Given the description of an element on the screen output the (x, y) to click on. 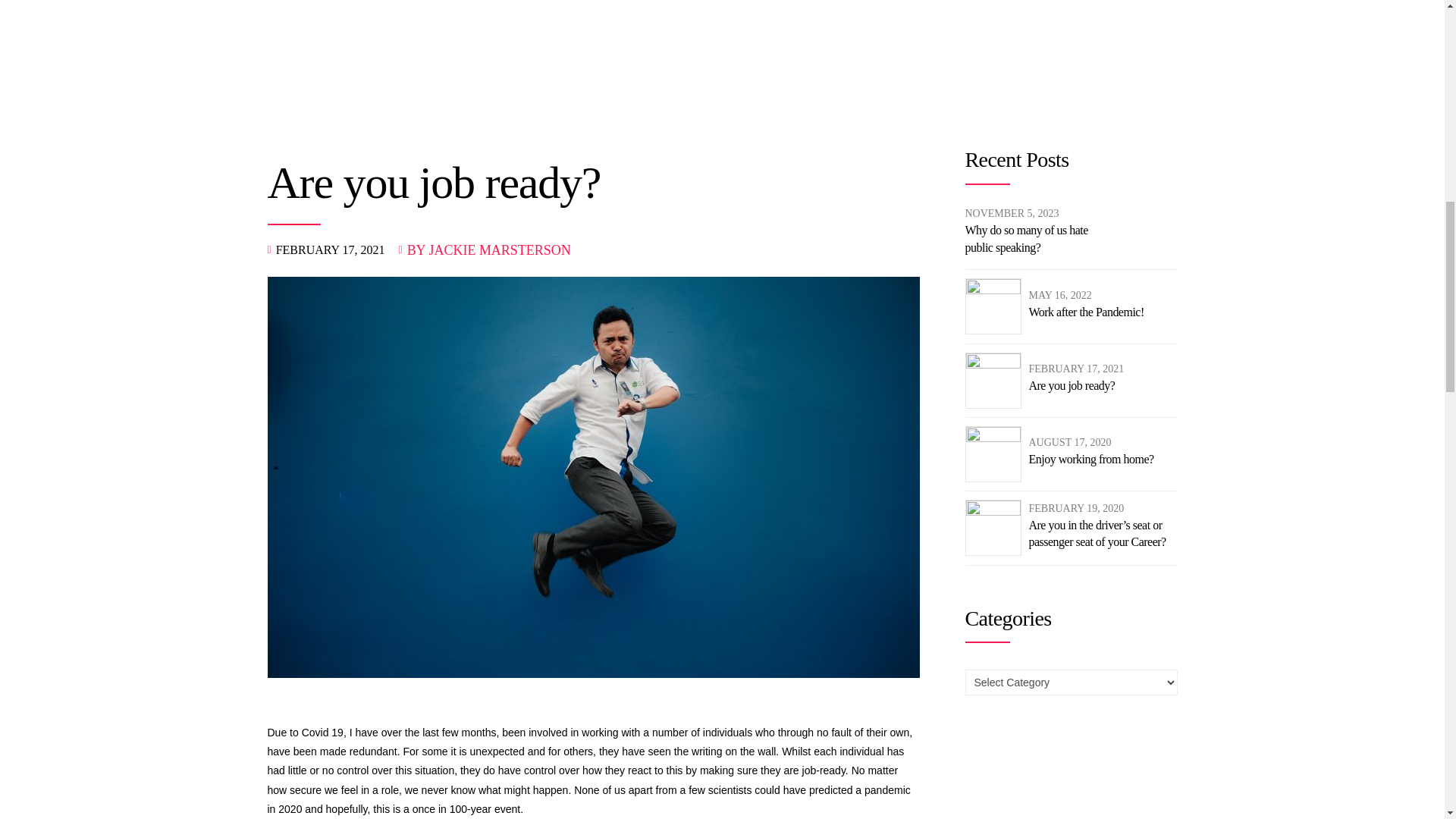
Work after the Pandemic! (1084, 312)
Are you job ready? (1075, 385)
Why do so many of us hate public speaking? (1038, 238)
Work after the Pandemic! (1084, 312)
BY JACKIE MARSTERSON (488, 250)
Enjoy working from home? (1090, 459)
Enjoy working from home? (1090, 459)
Why do so many of us hate public speaking? (1038, 238)
Are you job ready? (1075, 385)
